Given the description of an element on the screen output the (x, y) to click on. 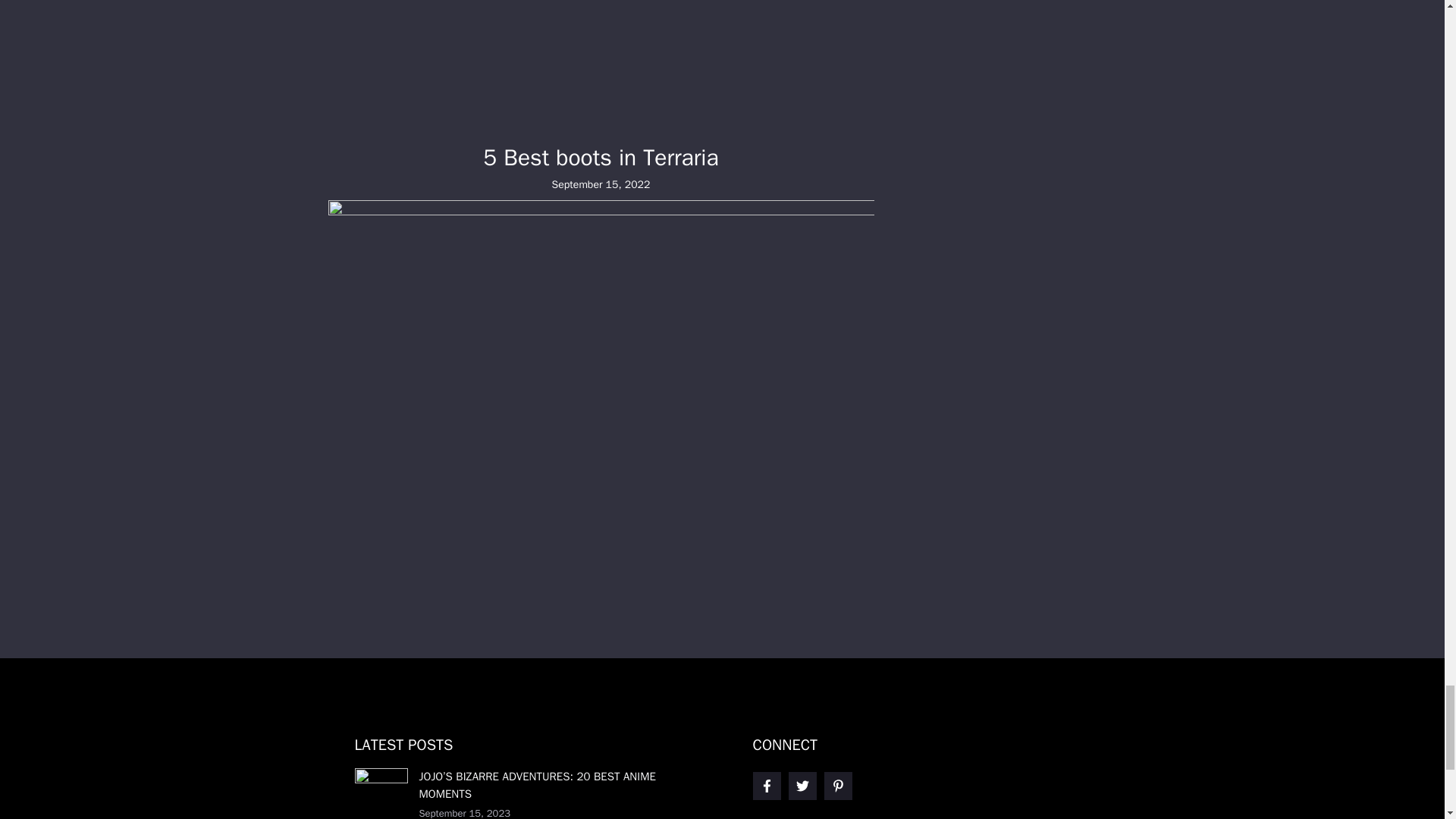
5 Best boots in Terraria (600, 157)
